Given the description of an element on the screen output the (x, y) to click on. 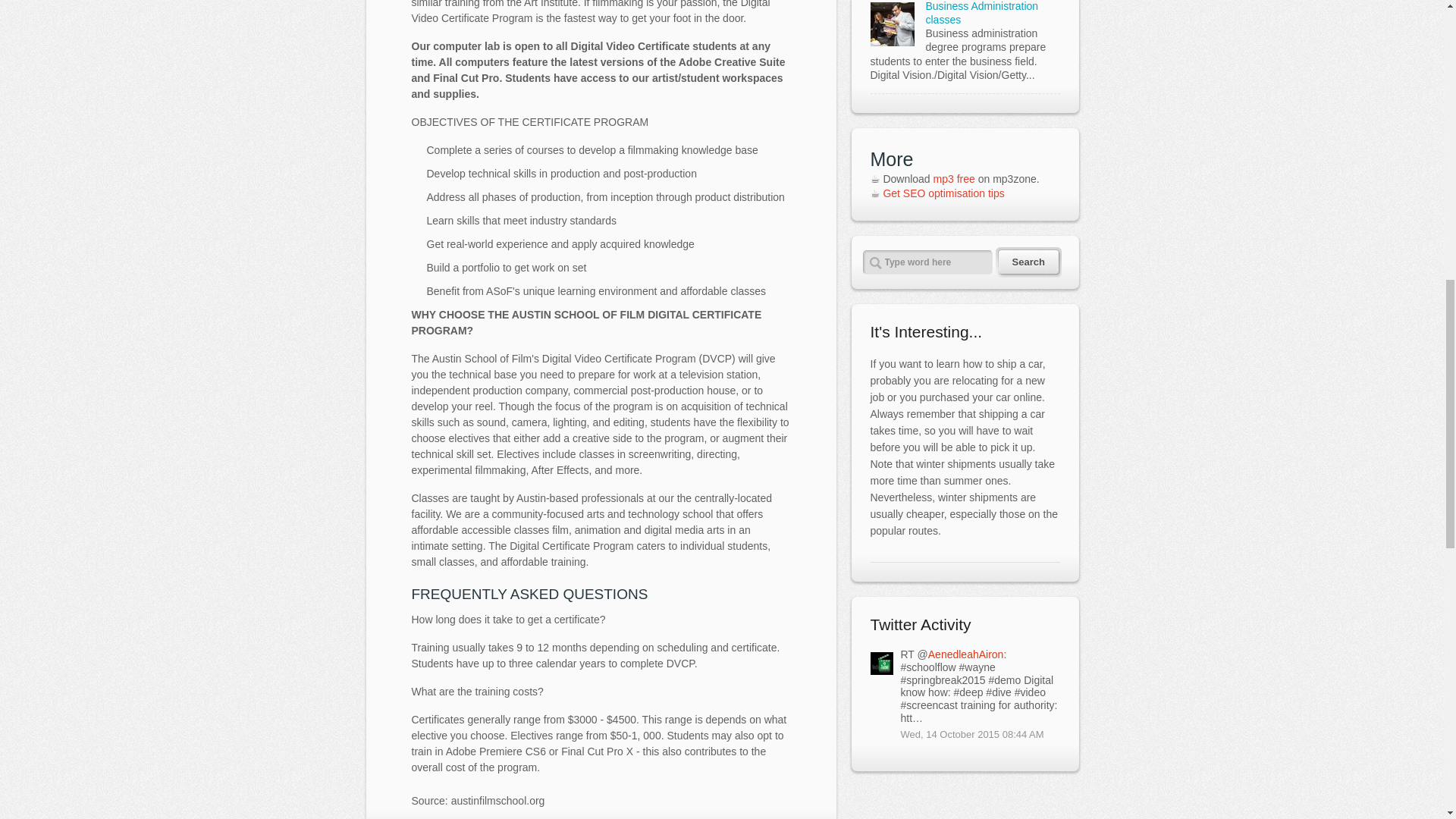
Business Administration classes (981, 12)
Search (1019, 262)
Type word here (927, 262)
mp3 free (954, 178)
Search (1019, 262)
how to ship a car (1002, 363)
Get SEO optimisation tips (943, 193)
